Given the description of an element on the screen output the (x, y) to click on. 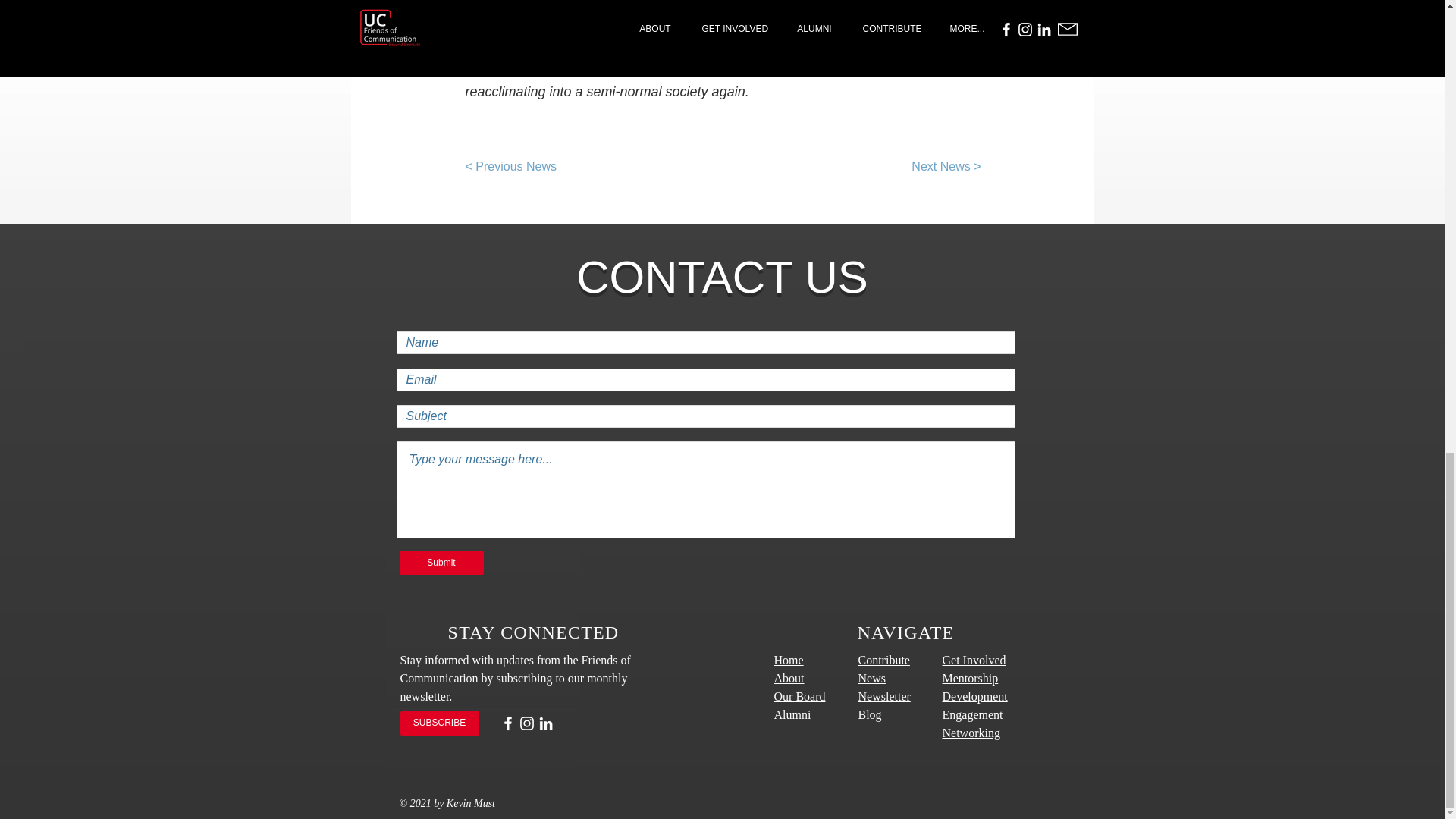
Networking (970, 732)
SUBSCRIBE (439, 723)
Contribute (884, 659)
About (788, 677)
Blog (870, 714)
Development (974, 696)
Home (788, 659)
Our Board (799, 696)
Alumni (791, 714)
Engagement (972, 714)
